Given the description of an element on the screen output the (x, y) to click on. 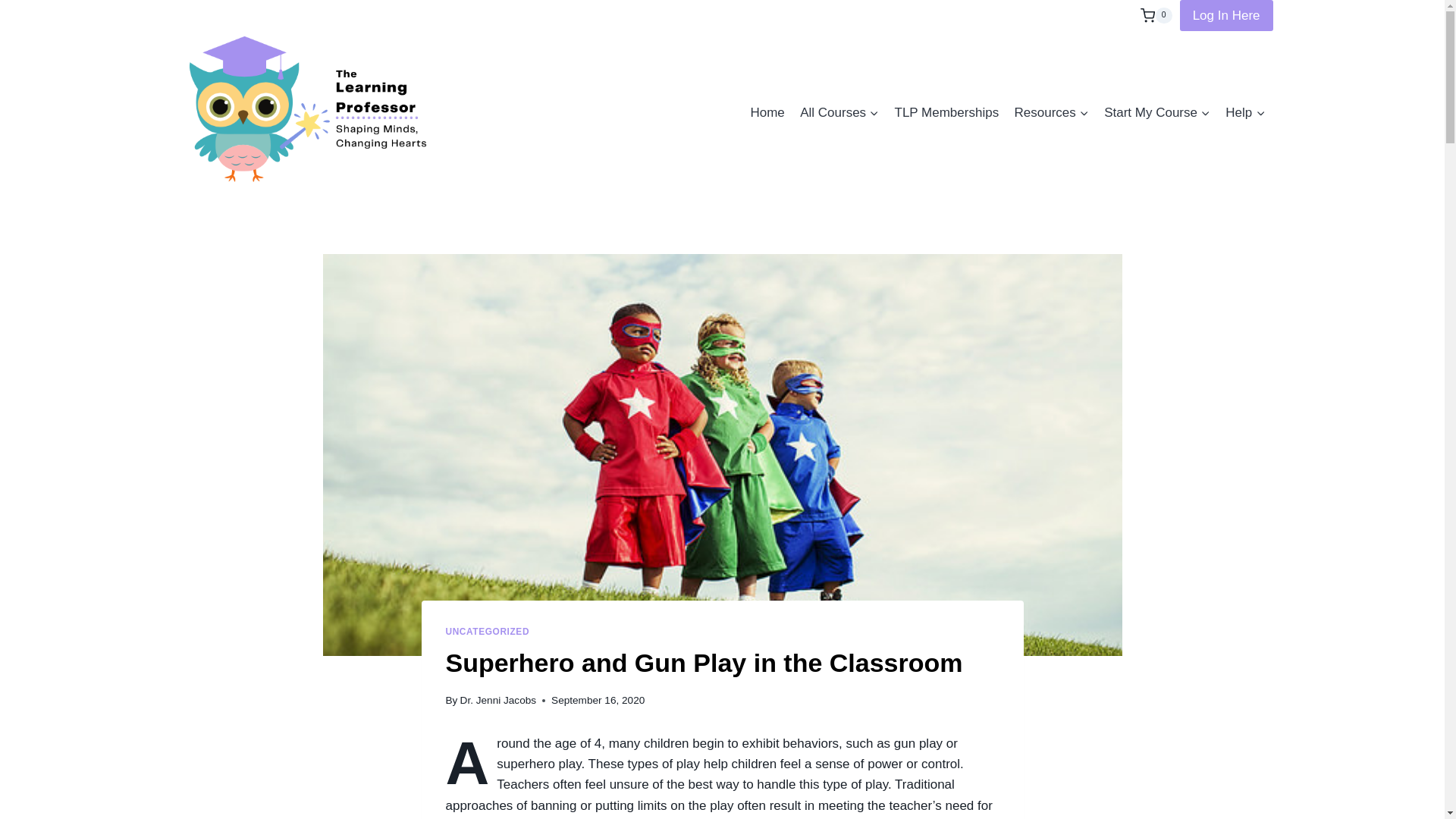
UNCATEGORIZED (487, 631)
TLP Memberships (946, 112)
Start My Course (1156, 112)
Resources (1051, 112)
Log In Here (1225, 15)
Help (1244, 112)
Home (767, 112)
Dr. Jenni Jacobs (498, 699)
0 (1156, 15)
All Courses (839, 112)
